Given the description of an element on the screen output the (x, y) to click on. 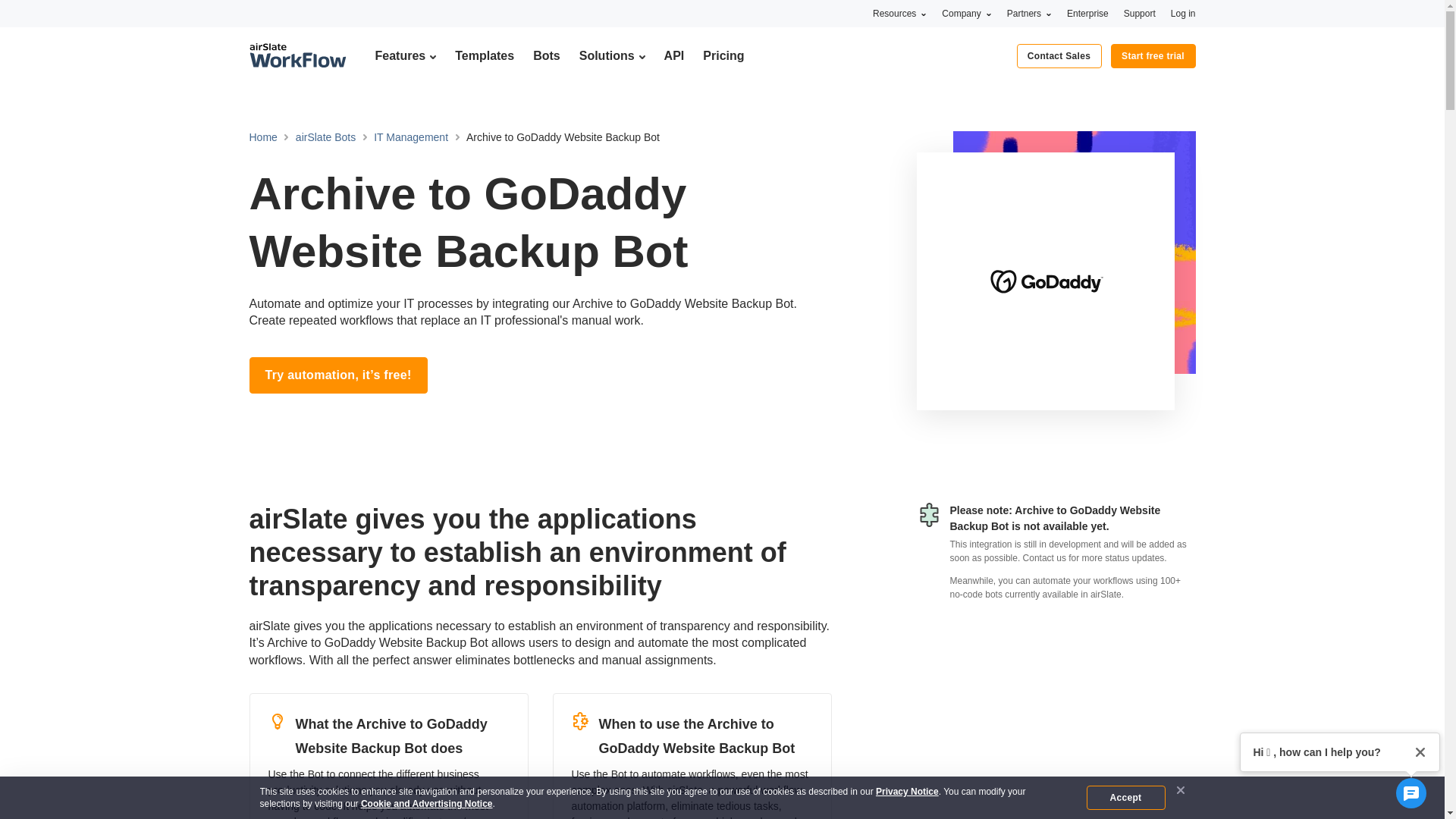
Partners (1029, 13)
Resources (899, 13)
Company (966, 13)
Enterprise (1087, 13)
Templates (483, 55)
Log in (1182, 13)
Support (1140, 13)
